Given the description of an element on the screen output the (x, y) to click on. 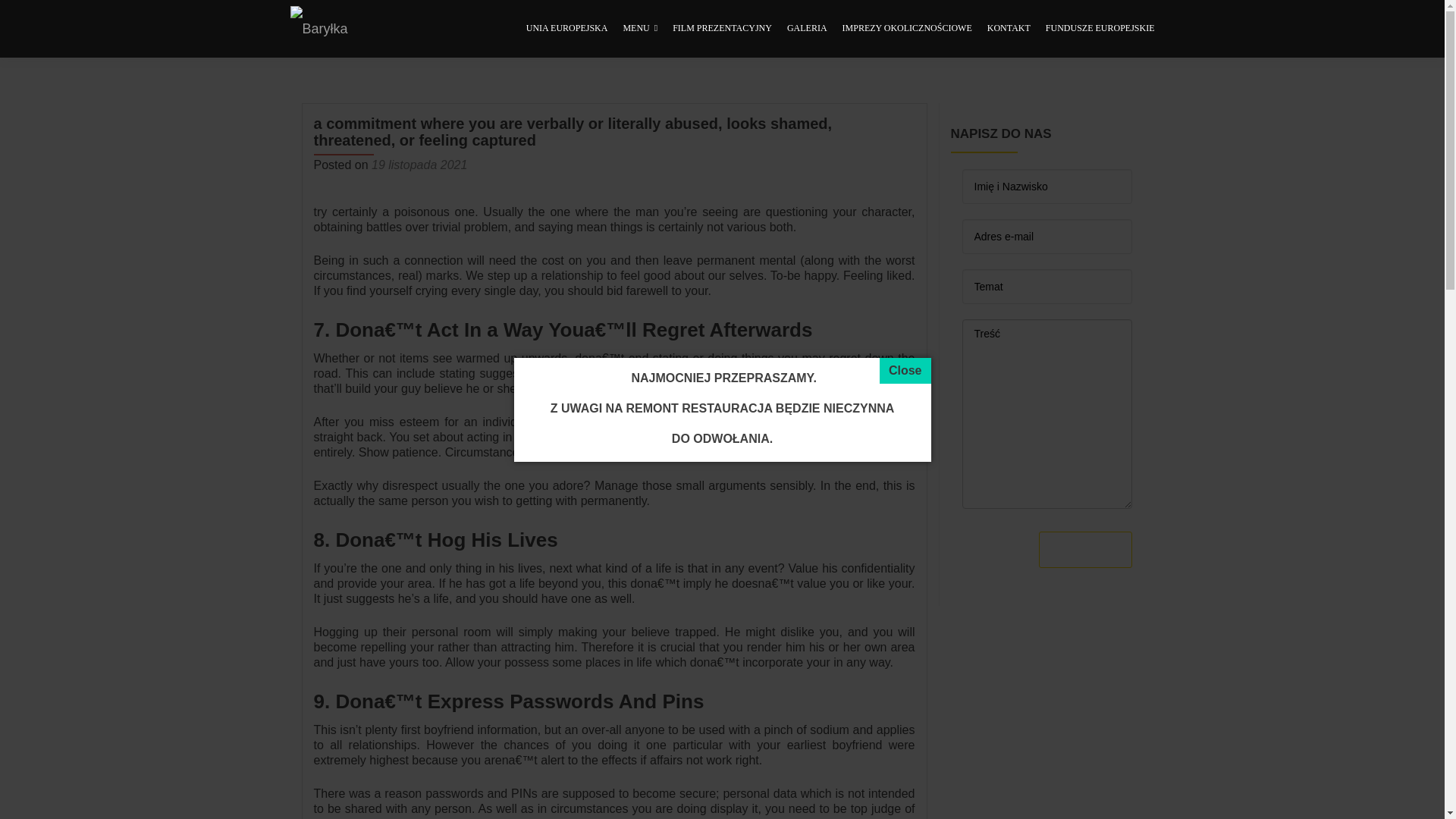
KONTAKT (1008, 28)
UNIA EUROPEJSKA (566, 28)
GALERIA (807, 28)
19 listopada 2021 (419, 164)
MENU (640, 28)
FUNDUSZE EUROPEJSKIE (1099, 28)
FILM PREZENTACYJNY (721, 28)
